Given the description of an element on the screen output the (x, y) to click on. 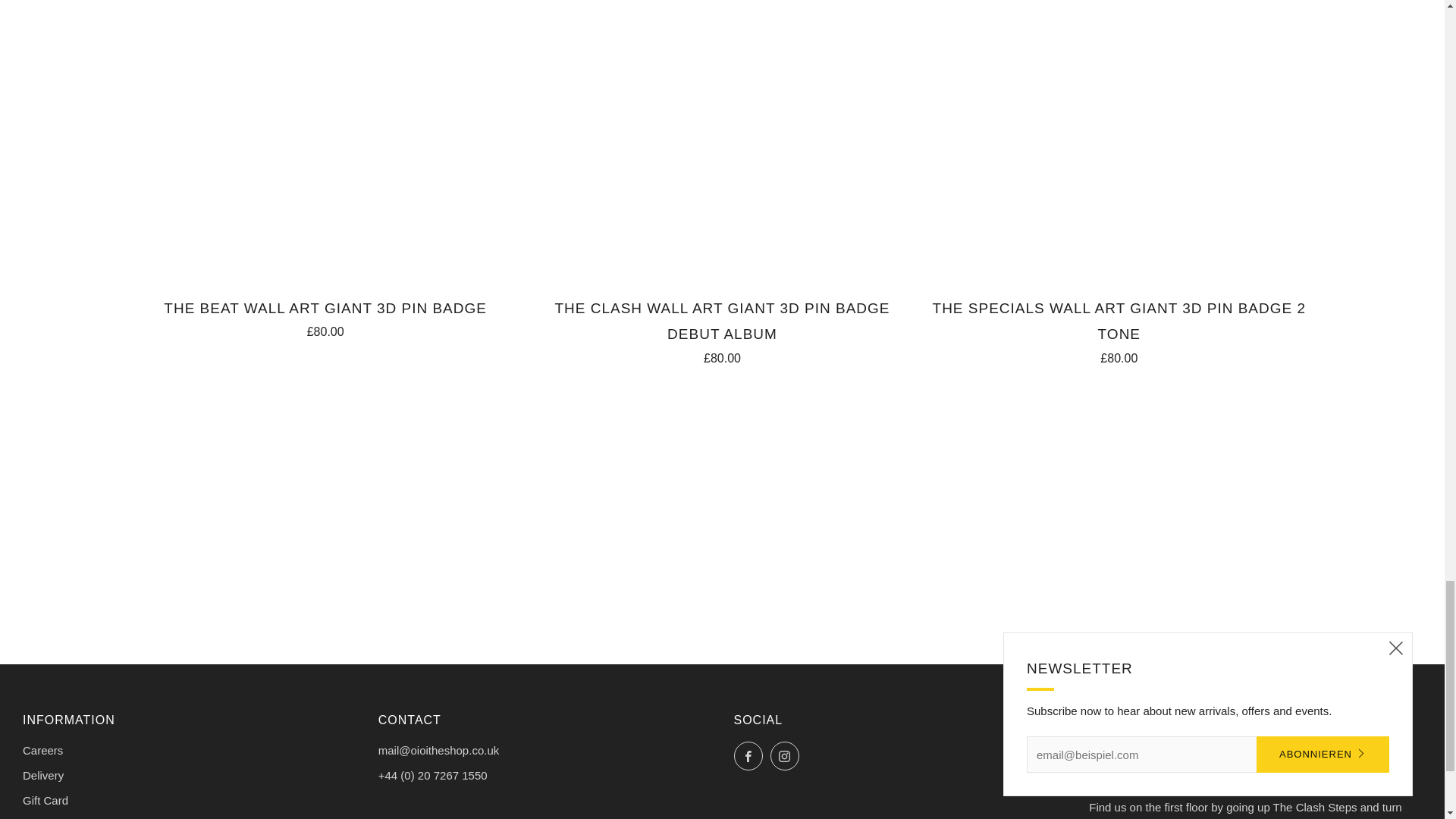
THE CLASH WALL ART GIANT 3D PIN BADGE DEBUT ALBUM (721, 329)
THE BEAT WALL ART GIANT 3D PIN BADGE (325, 316)
THE SPECIALS WALL ART GIANT 3D PIN BADGE 2 TONE (1118, 329)
